Given the description of an element on the screen output the (x, y) to click on. 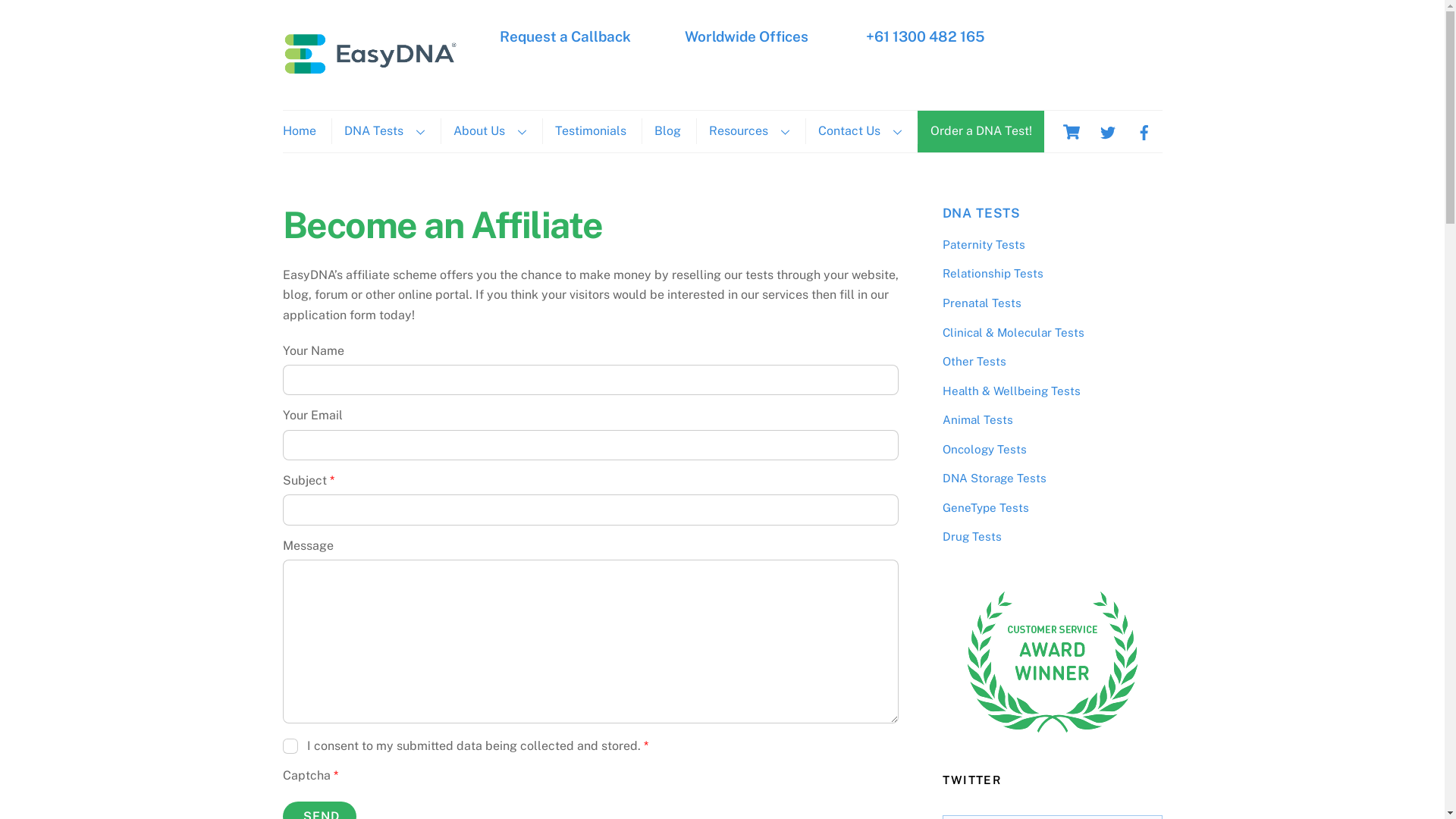
Blog Element type: text (667, 131)
Contact Us Element type: text (859, 131)
Testimonials Element type: text (589, 131)
 +61 1300 482 165 Element type: text (923, 36)
Paternity Tests Element type: text (982, 244)
Clinical & Molecular Tests Element type: text (1012, 332)
Prenatal Tests Element type: text (980, 302)
DNA Storage Tests Element type: text (993, 477)
DNA TESTS Element type: text (980, 212)
Drug Tests Element type: text (971, 536)
GeneType Tests Element type: text (984, 507)
Home Element type: text (304, 131)
Oncology Tests Element type: text (983, 448)
EasyDNA_Colour_Horizontal.png (2) Element type: hover (370, 52)
Cart Element type: text (1070, 131)
Other Tests Element type: text (973, 360)
Health & Wellbeing Tests Element type: text (1010, 390)
Request a Callback Element type: text (564, 36)
Animal Tests Element type: text (976, 419)
About Us Element type: text (488, 131)
Worldwide Offices Element type: text (746, 36)
Order a DNA Test! Element type: text (980, 131)
DNA Tests Element type: text (383, 131)
Relationship Tests Element type: text (991, 272)
Resources Element type: text (749, 131)
